Given the description of an element on the screen output the (x, y) to click on. 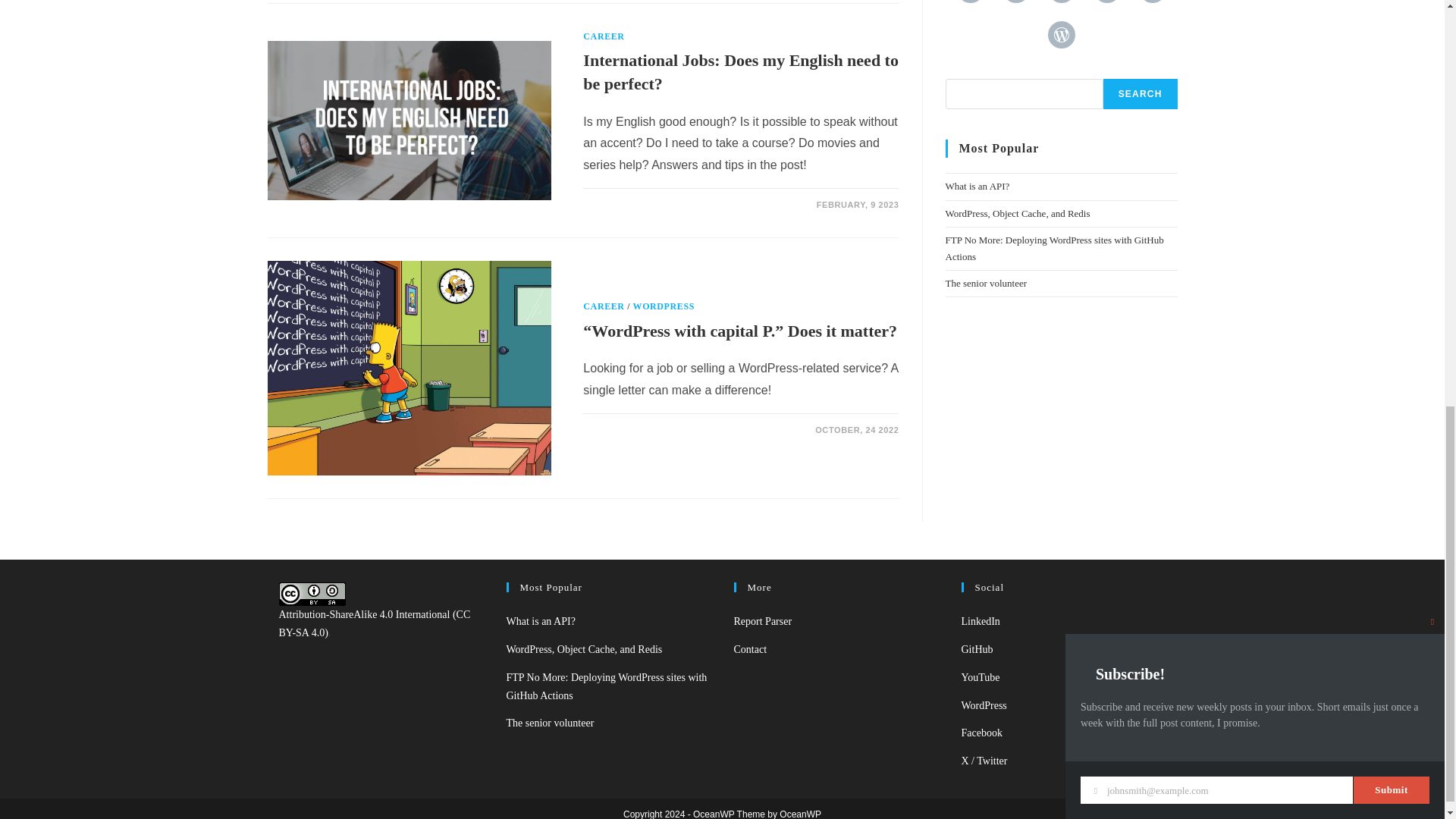
YouTube (980, 677)
CAREER (603, 36)
WordPress.org (983, 705)
CAREER (603, 306)
WORDPRESS (663, 306)
International Jobs: Does my English need to be perfect? (740, 71)
LinkedIn (970, 1)
Twitter (1016, 1)
Twitter (983, 760)
Facebook (1061, 1)
Facebook (981, 732)
GitHub (976, 649)
